Given the description of an element on the screen output the (x, y) to click on. 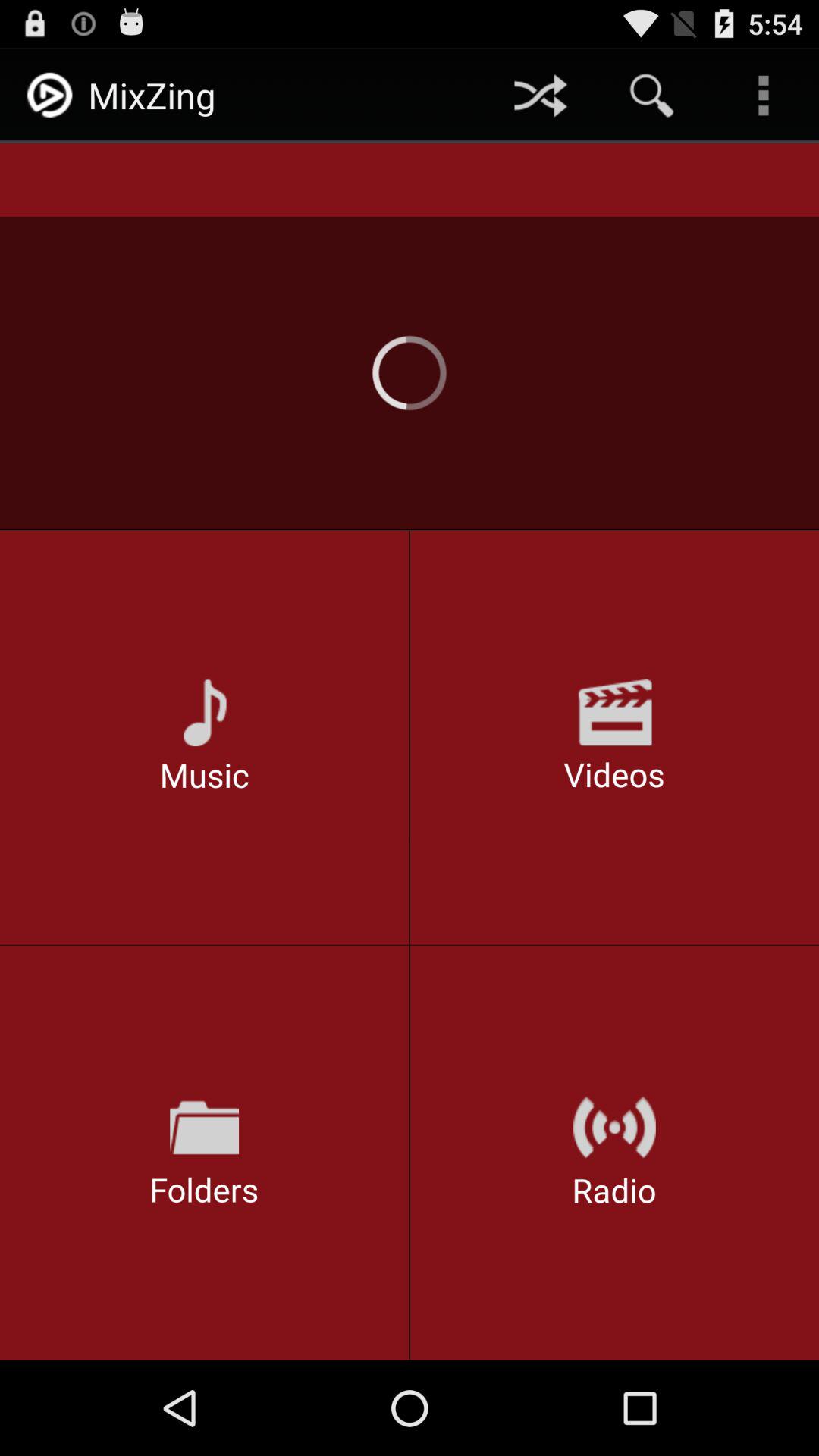
tap the item next to the mixzing item (540, 95)
